Given the description of an element on the screen output the (x, y) to click on. 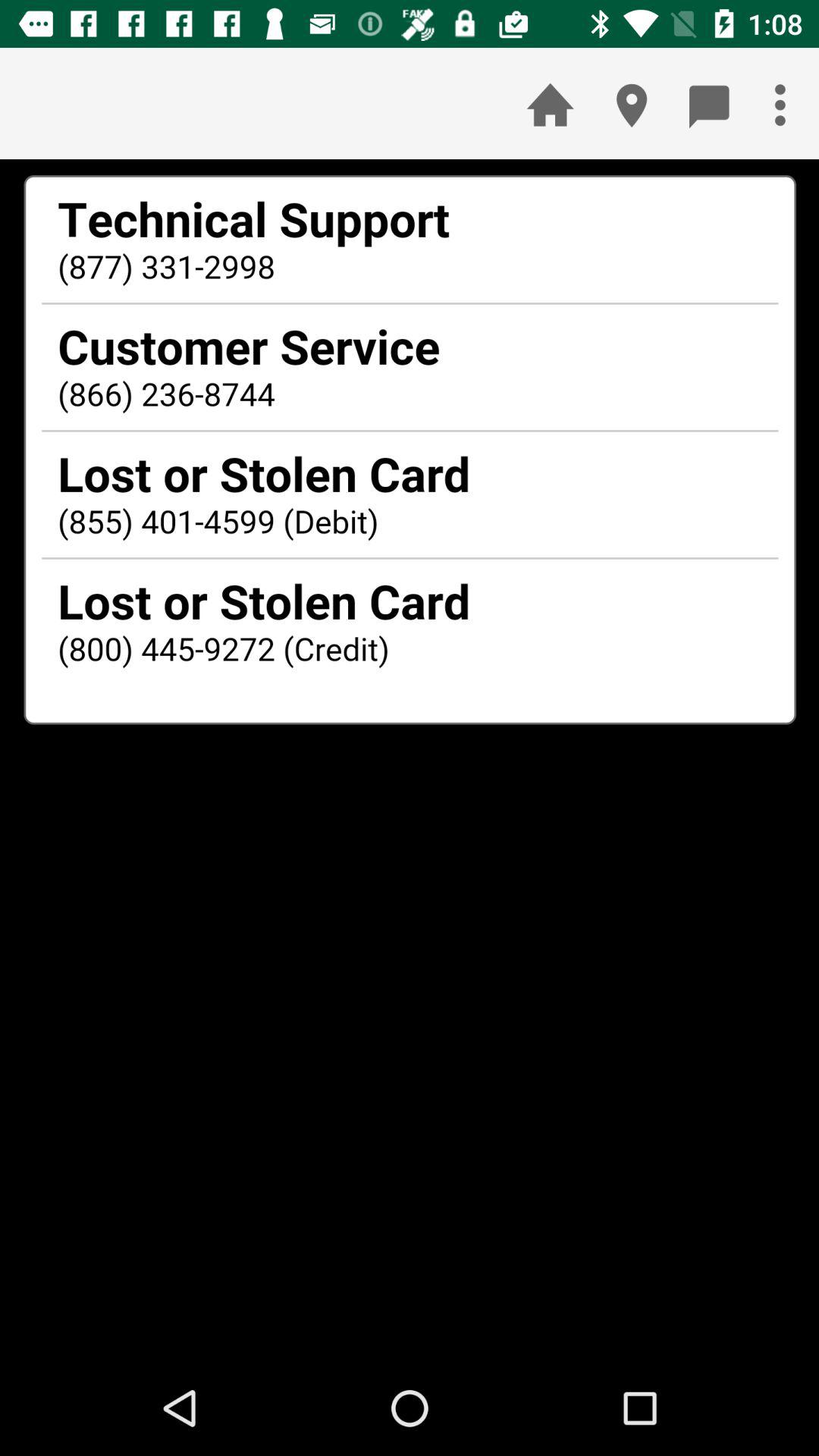
seeing in tha paragraph (409, 759)
